Given the description of an element on the screen output the (x, y) to click on. 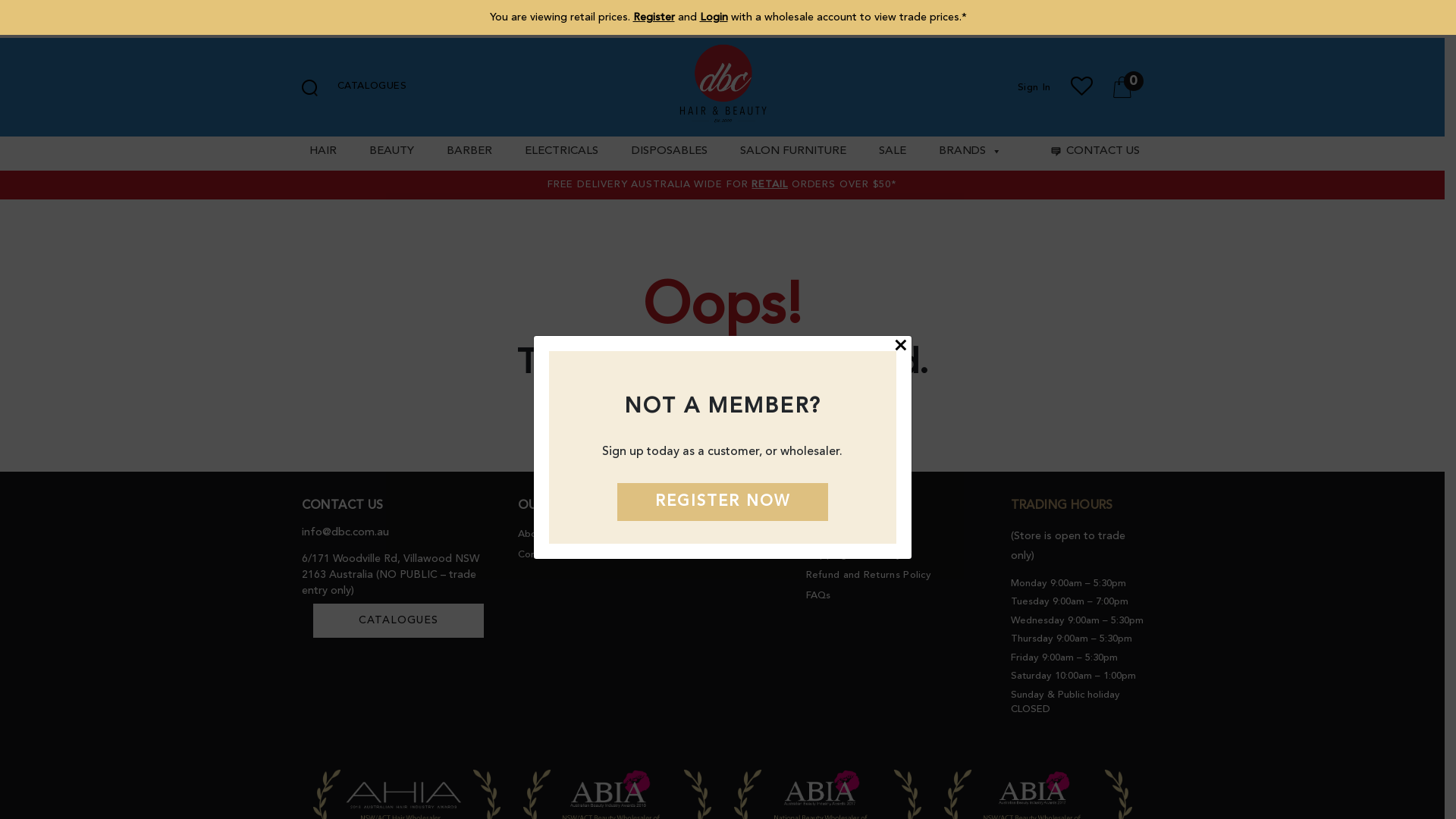
BARBER Element type: text (467, 151)
SALE Element type: text (890, 151)
FAQs Element type: text (817, 595)
SALON FURNITURE Element type: text (791, 151)
Login Element type: text (713, 17)
Shipping & Delivery Element type: text (853, 554)
Register Element type: text (653, 17)
info@dbc.com.au Element type: text (345, 532)
CONTACT US Element type: text (1091, 151)
REGISTER NOW Element type: text (722, 501)
CATALOGUES Element type: text (371, 86)
BEAUTY Element type: text (389, 151)
RETAIL Element type: text (769, 184)
My account Element type: text (688, 534)
Contact Us Element type: text (543, 554)
Sign In Element type: text (1034, 86)
HAIR Element type: text (320, 151)
BRANDS Element type: text (968, 151)
About Us Element type: text (539, 534)
DISPOSABLES Element type: text (666, 151)
Refund and Returns Policy Element type: text (868, 575)
Terms & Conditions Element type: text (852, 534)
ELECTRICALS Element type: text (559, 151)
CATALOGUES Element type: text (397, 620)
